Given the description of an element on the screen output the (x, y) to click on. 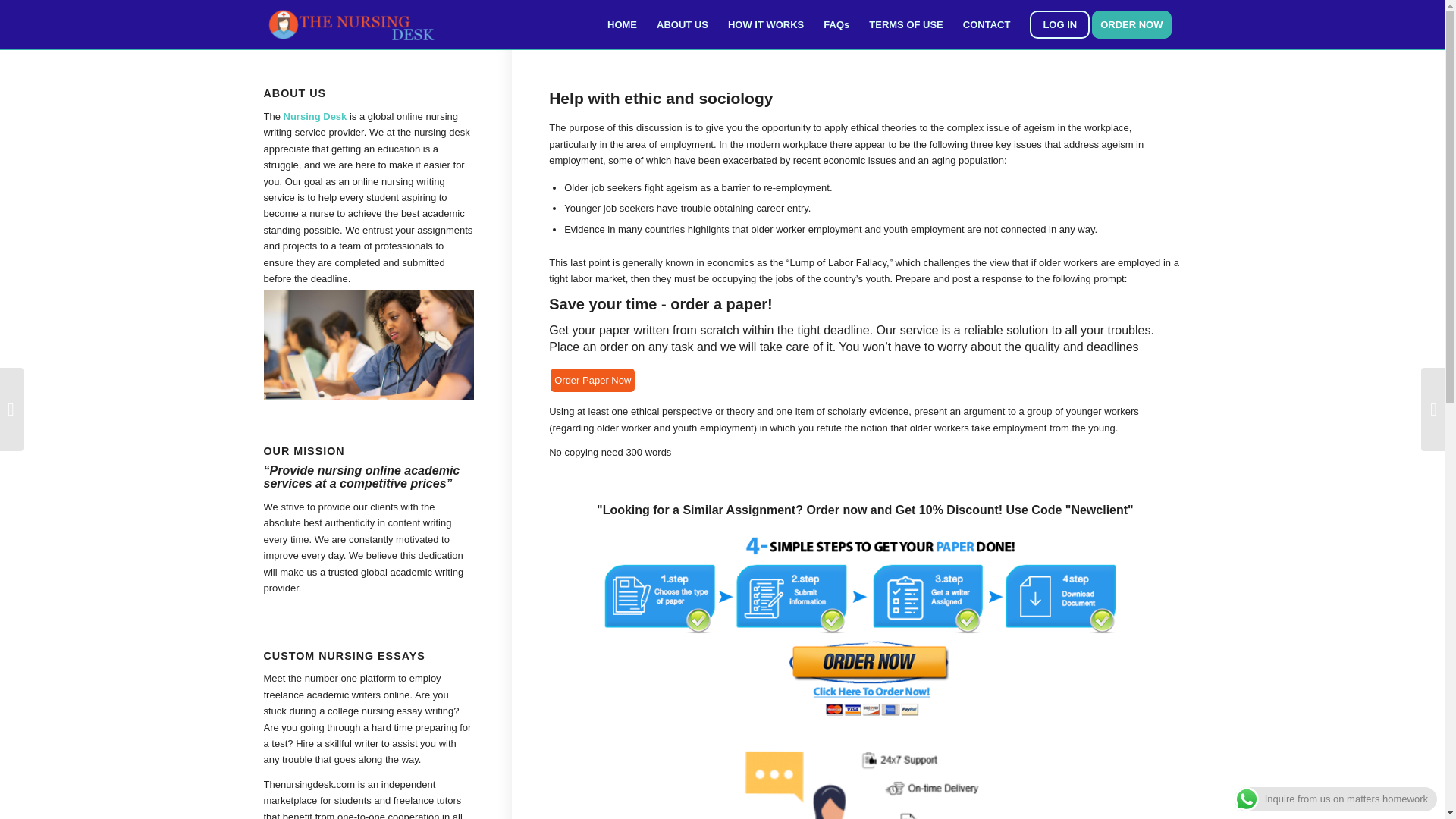
TERMS OF USE (906, 24)
Order Paper Now (592, 380)
HOME (621, 24)
FAQs (836, 24)
HOW IT WORKS (765, 24)
Permanent Link: Help with ethic and sociology (660, 98)
ABOUT US (681, 24)
ORDER NOW (1136, 24)
CONTACT (986, 24)
Help with ethic and sociology (660, 98)
LOG IN (1059, 24)
Thenursingdesk.com (309, 784)
